Given the description of an element on the screen output the (x, y) to click on. 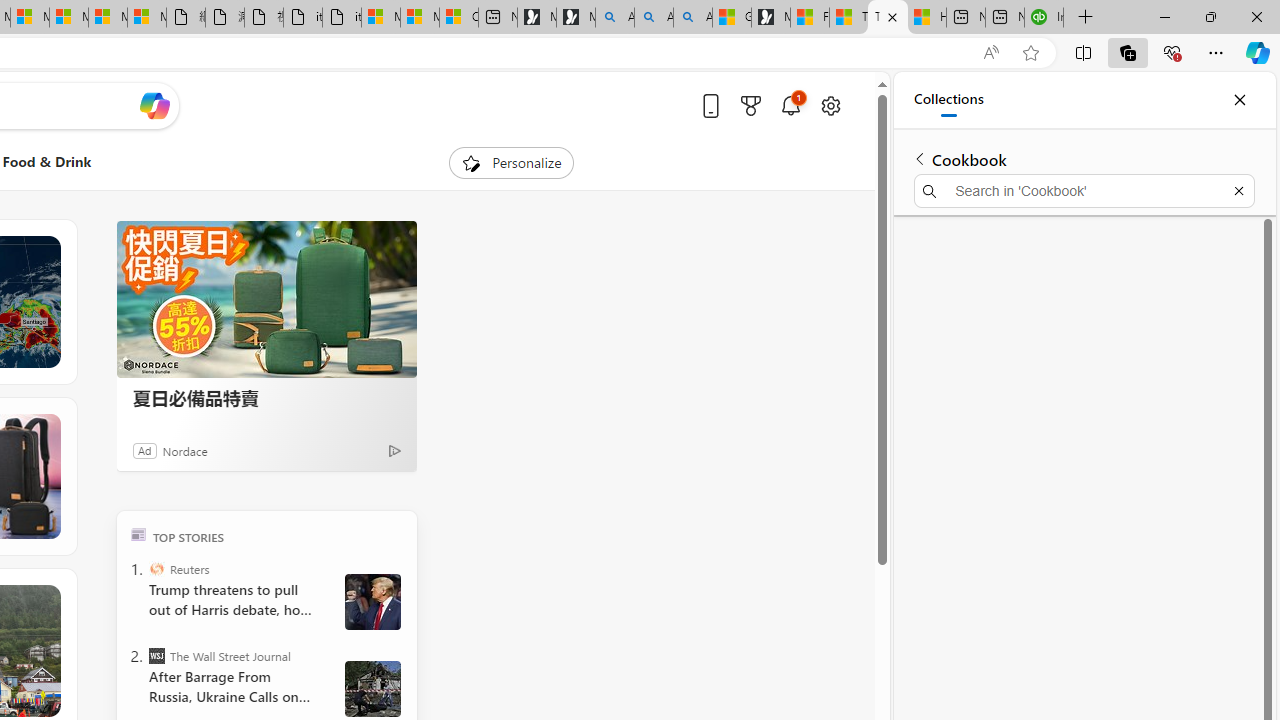
Reuters (156, 568)
Alabama high school quarterback dies - Search (614, 17)
Consumer Health Data Privacy Policy (458, 17)
